Given the description of an element on the screen output the (x, y) to click on. 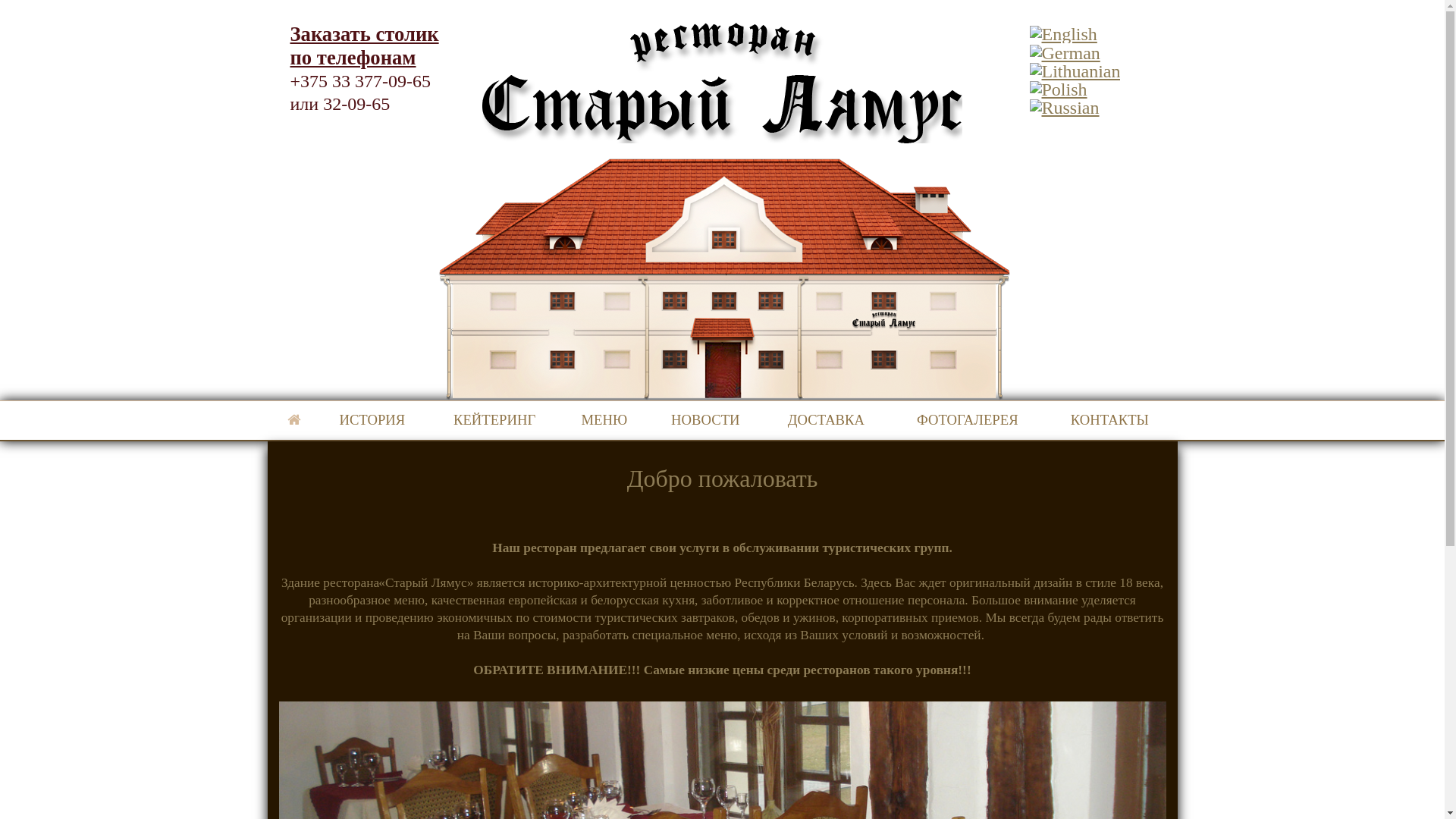
English Element type: hover (1063, 31)
Lithuanian Element type: hover (1074, 68)
Russian Element type: hover (1064, 105)
German Element type: hover (1064, 50)
Polish Element type: hover (1058, 86)
MARKIZA_BY Element type: hover (293, 420)
